Given the description of an element on the screen output the (x, y) to click on. 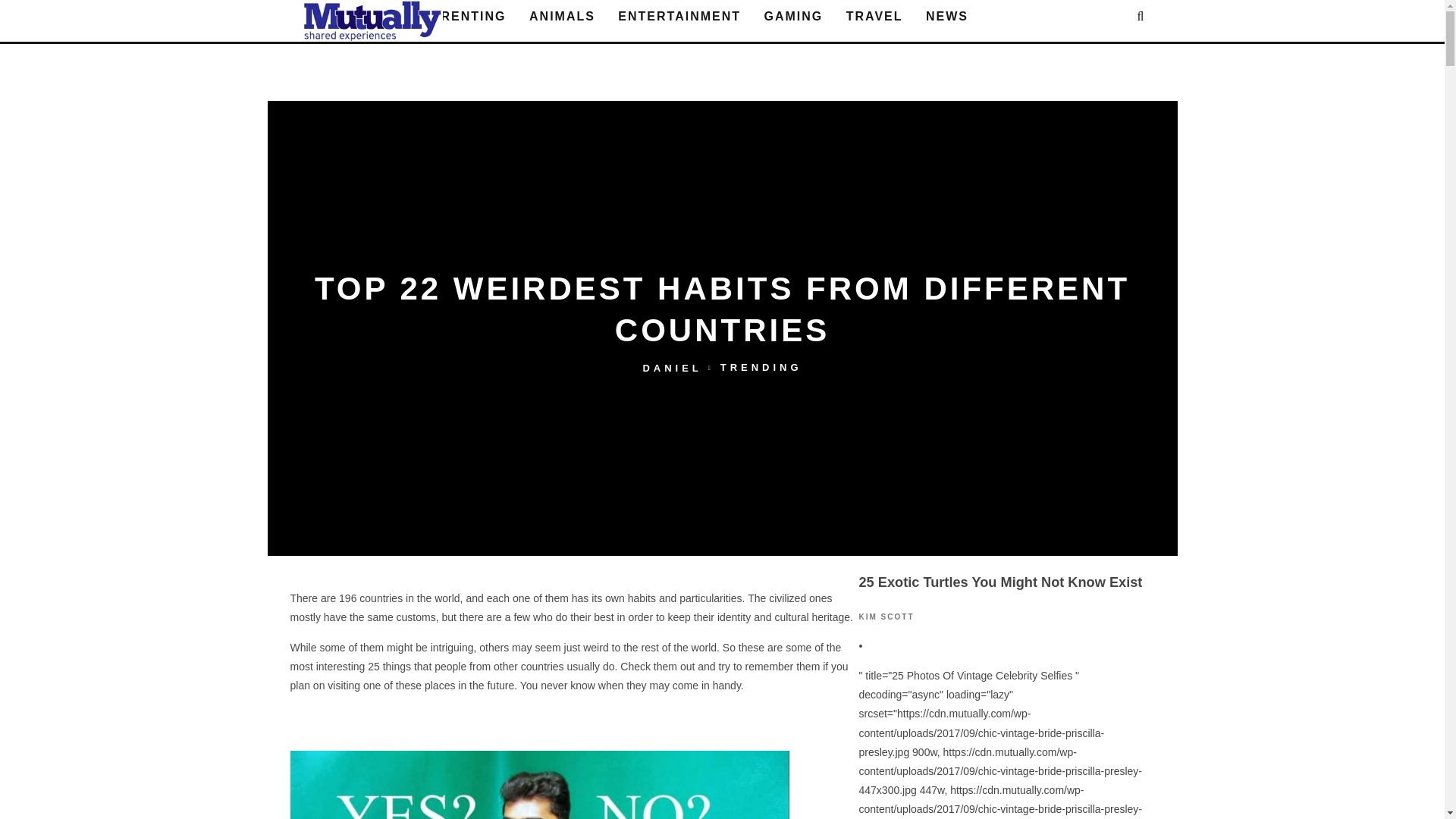
TRAVEL (874, 17)
GAMING (793, 17)
Log In (721, 409)
ANIMALS (561, 17)
View all posts in Trending (761, 367)
PARENTING (464, 17)
TRENDING (761, 367)
NEWS (946, 17)
TRENDING (360, 17)
ENTERTAINMENT (678, 17)
DANIEL (671, 367)
